Given the description of an element on the screen output the (x, y) to click on. 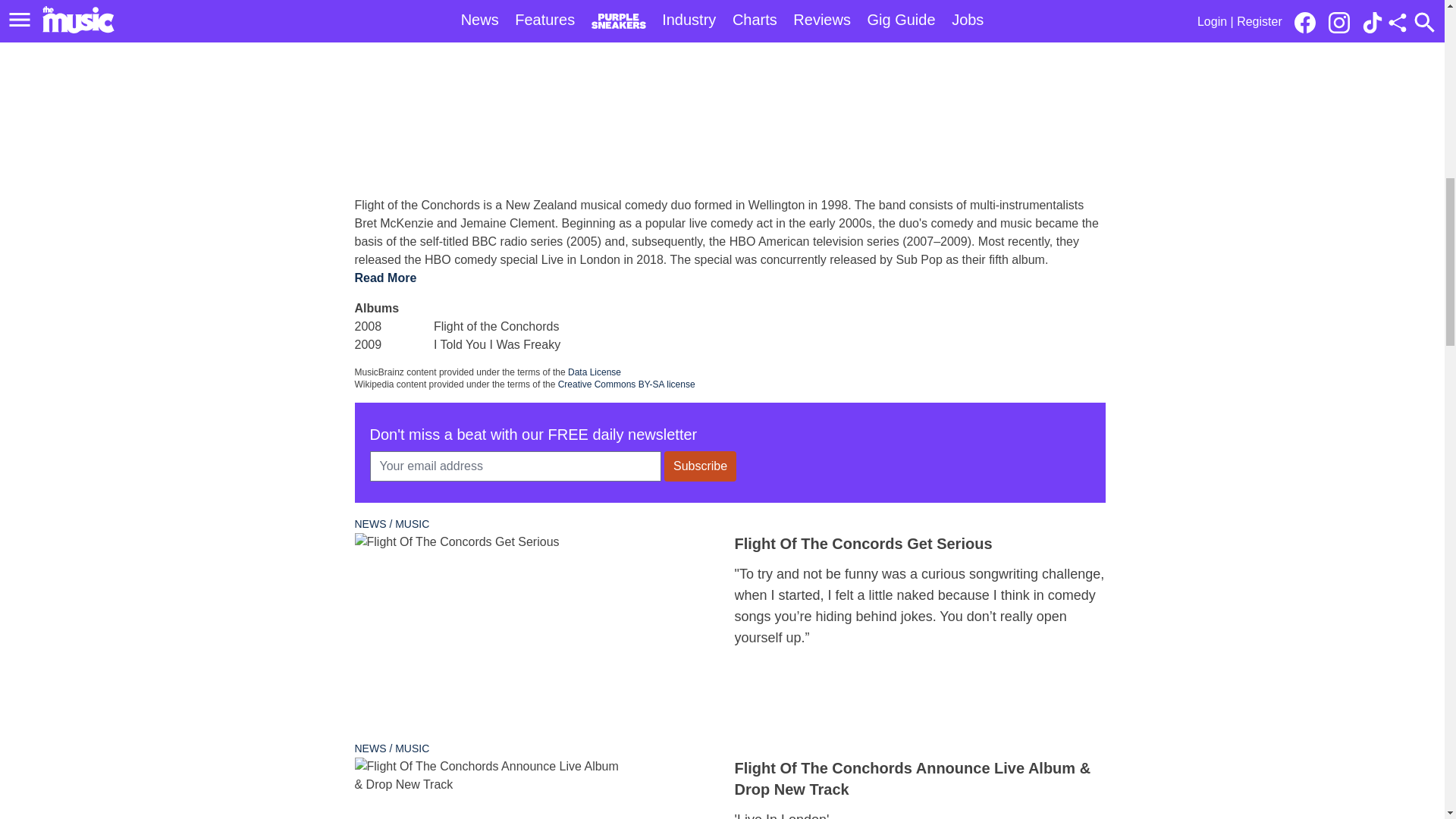
Creative Commons BY-SA license (626, 384)
Subscribe (699, 466)
Read More (385, 278)
Data License (594, 371)
